Given the description of an element on the screen output the (x, y) to click on. 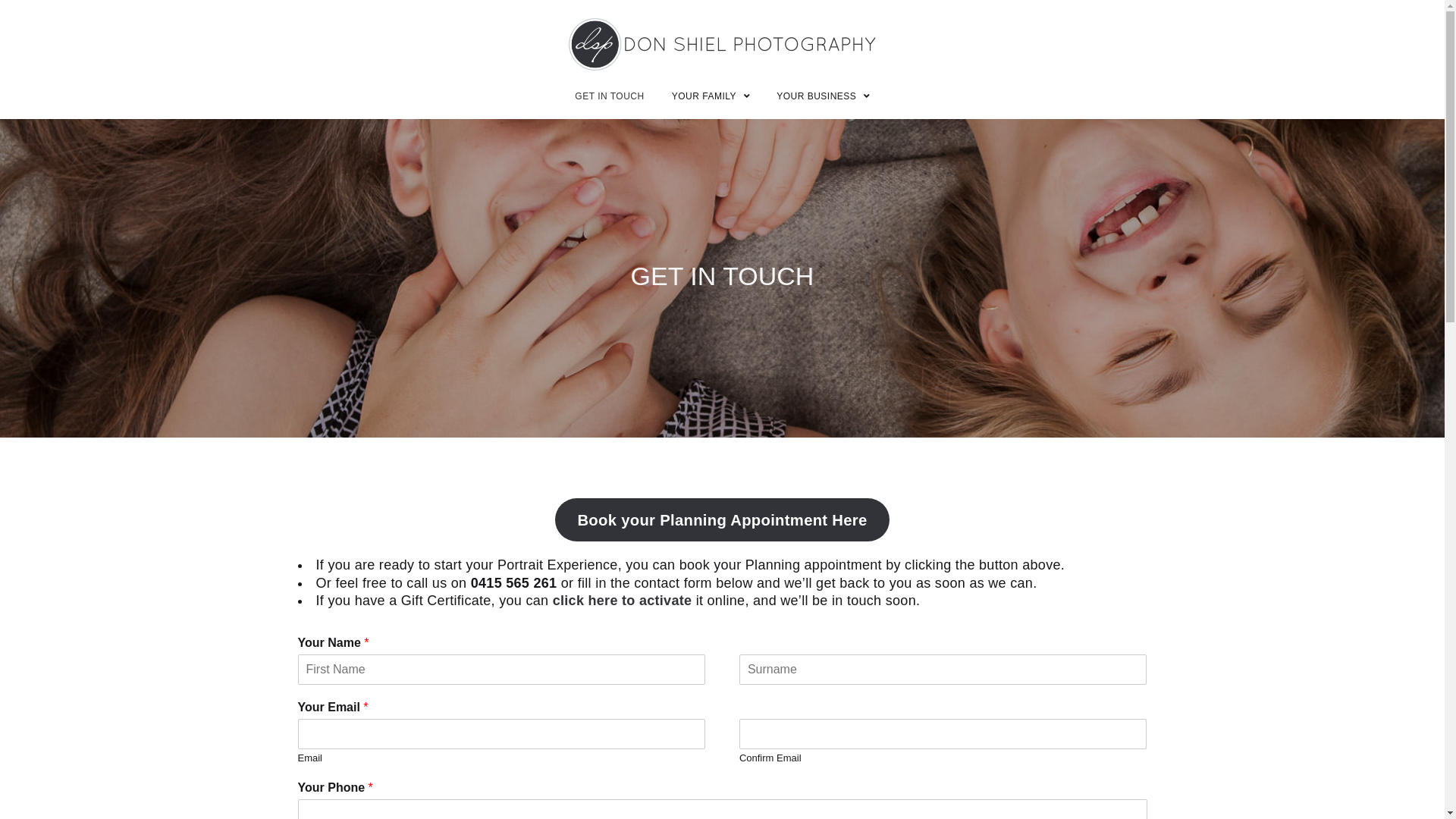
YOUR BUSINESS Element type: text (822, 96)
Book your Planning Appointment Here Element type: text (721, 519)
GET IN TOUCH Element type: text (609, 96)
YOUR FAMILY Element type: text (710, 96)
click here to activate Element type: text (622, 600)
